Given the description of an element on the screen output the (x, y) to click on. 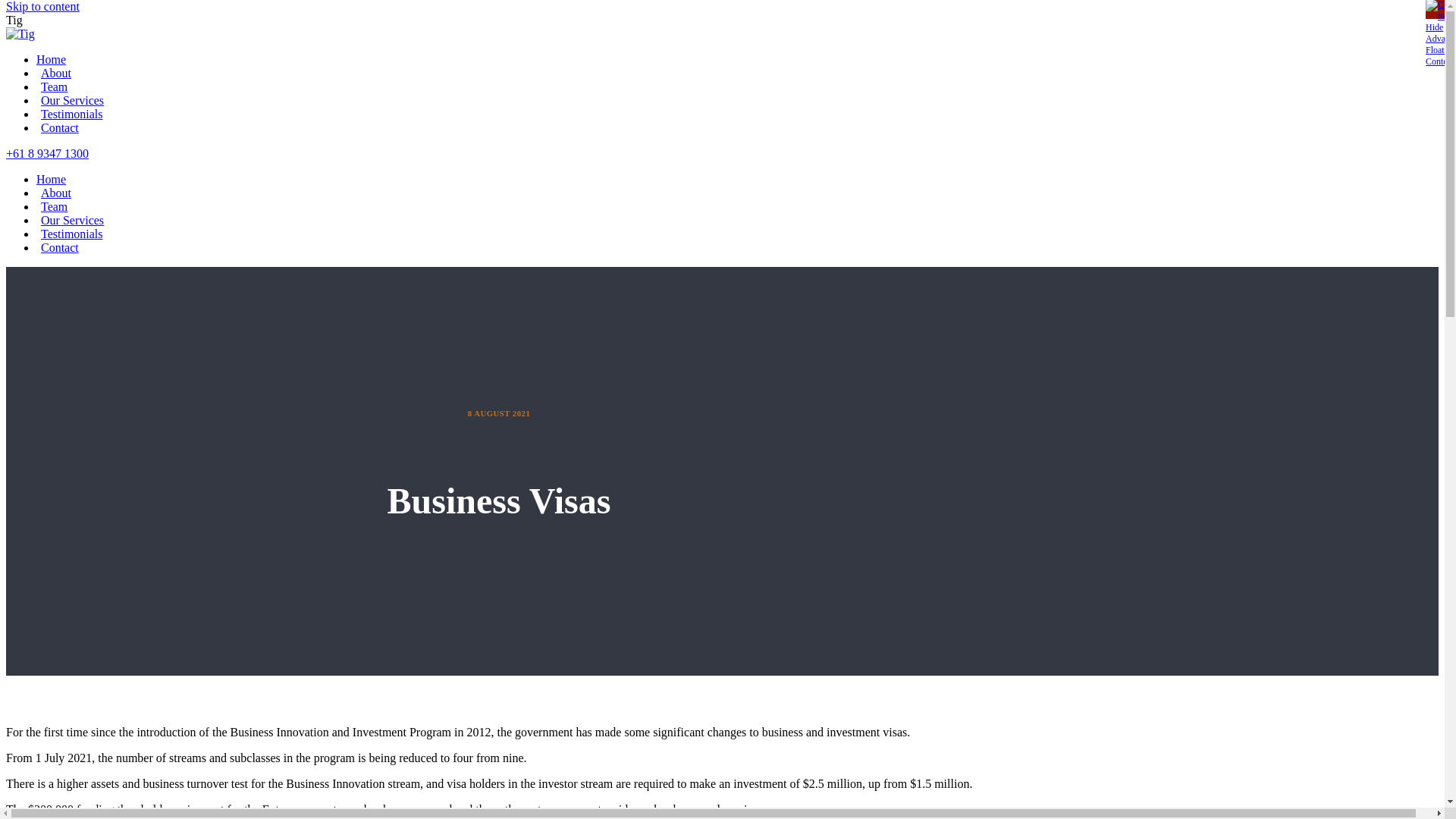
Our Services Element type: text (69, 219)
About Element type: text (53, 192)
Team Element type: text (51, 206)
About Element type: text (53, 72)
Testimonials Element type: text (69, 113)
Contact Element type: text (57, 247)
Testimonials Element type: text (69, 233)
Home Element type: text (50, 59)
+61 8 9347 1300 Element type: text (47, 153)
Our Services Element type: text (69, 100)
Home Element type: text (50, 178)
Skip to content Element type: text (42, 6)
Team Element type: text (51, 86)
Contact Element type: text (57, 127)
